Given the description of an element on the screen output the (x, y) to click on. 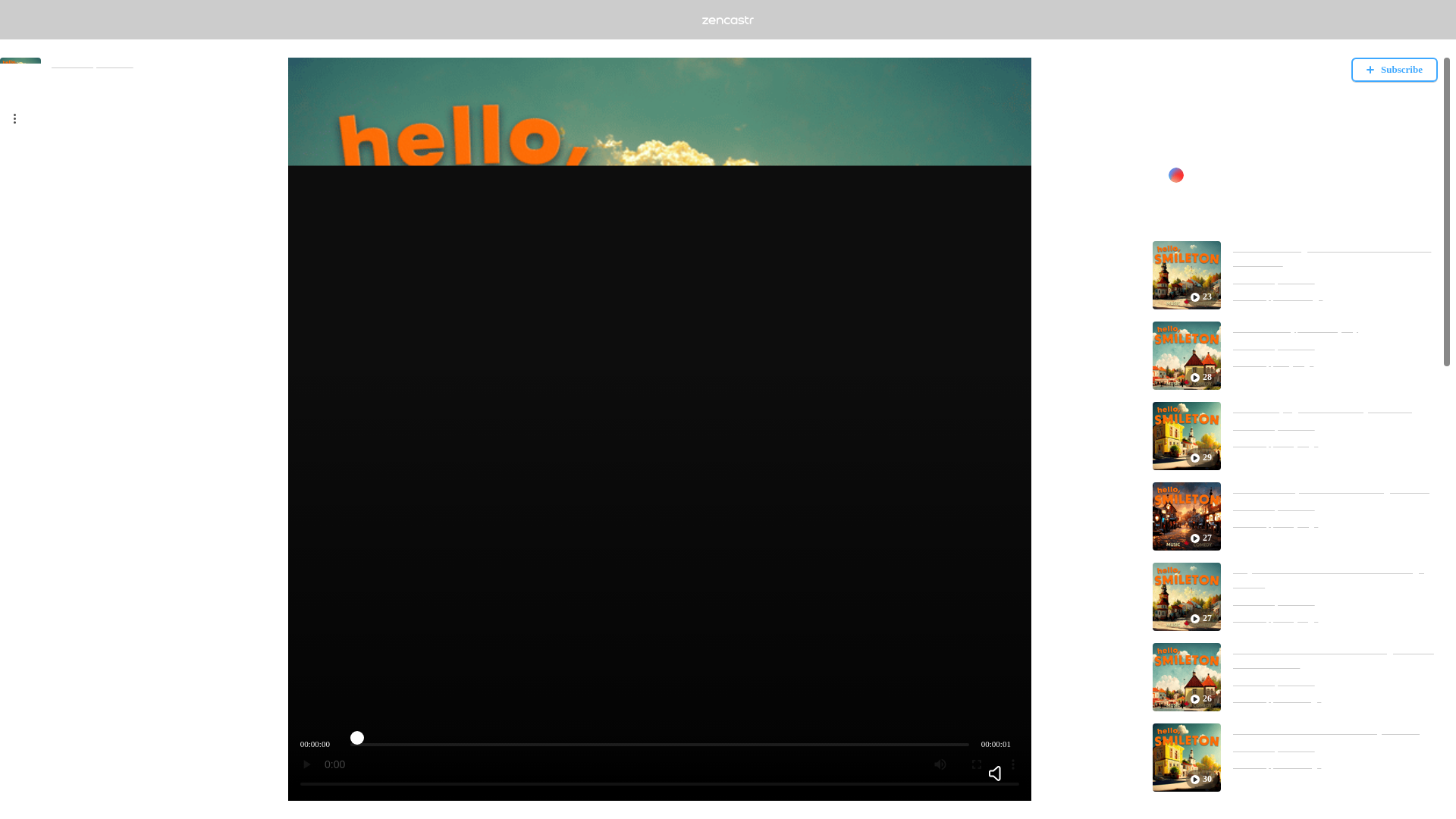
27 (1187, 596)
People Don't Wanna Hear The Truth At High Volume (1335, 576)
27 (1187, 516)
29 (1187, 436)
You're So Willing To Unweave This Sweater Of Enthusiasm (1335, 254)
We Want To Fly Like Ghouls Through The Air (1331, 489)
26 (1187, 676)
What's Her Eureka Moment? Getting Chickens To Arm Wrestle (1335, 656)
28 (1187, 355)
Show more (1176, 147)
